Given the description of an element on the screen output the (x, y) to click on. 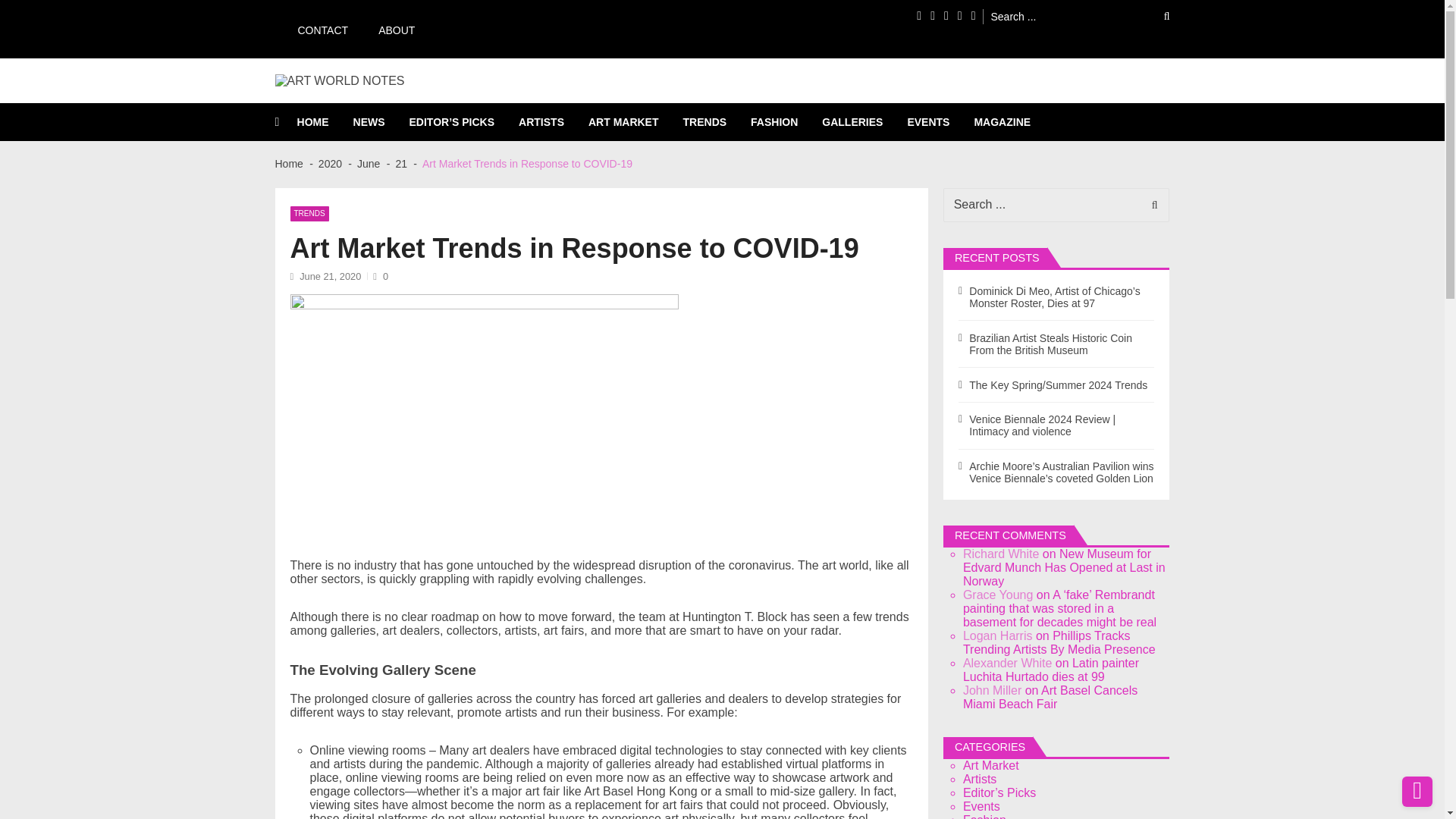
NEWS (381, 122)
CONTACT (315, 29)
HOME (325, 122)
ART WORLD NOTES (355, 95)
Search (1150, 204)
ABOUT (388, 29)
Search (1156, 15)
Search (1156, 15)
Search (1150, 204)
Search (1156, 15)
